Given the description of an element on the screen output the (x, y) to click on. 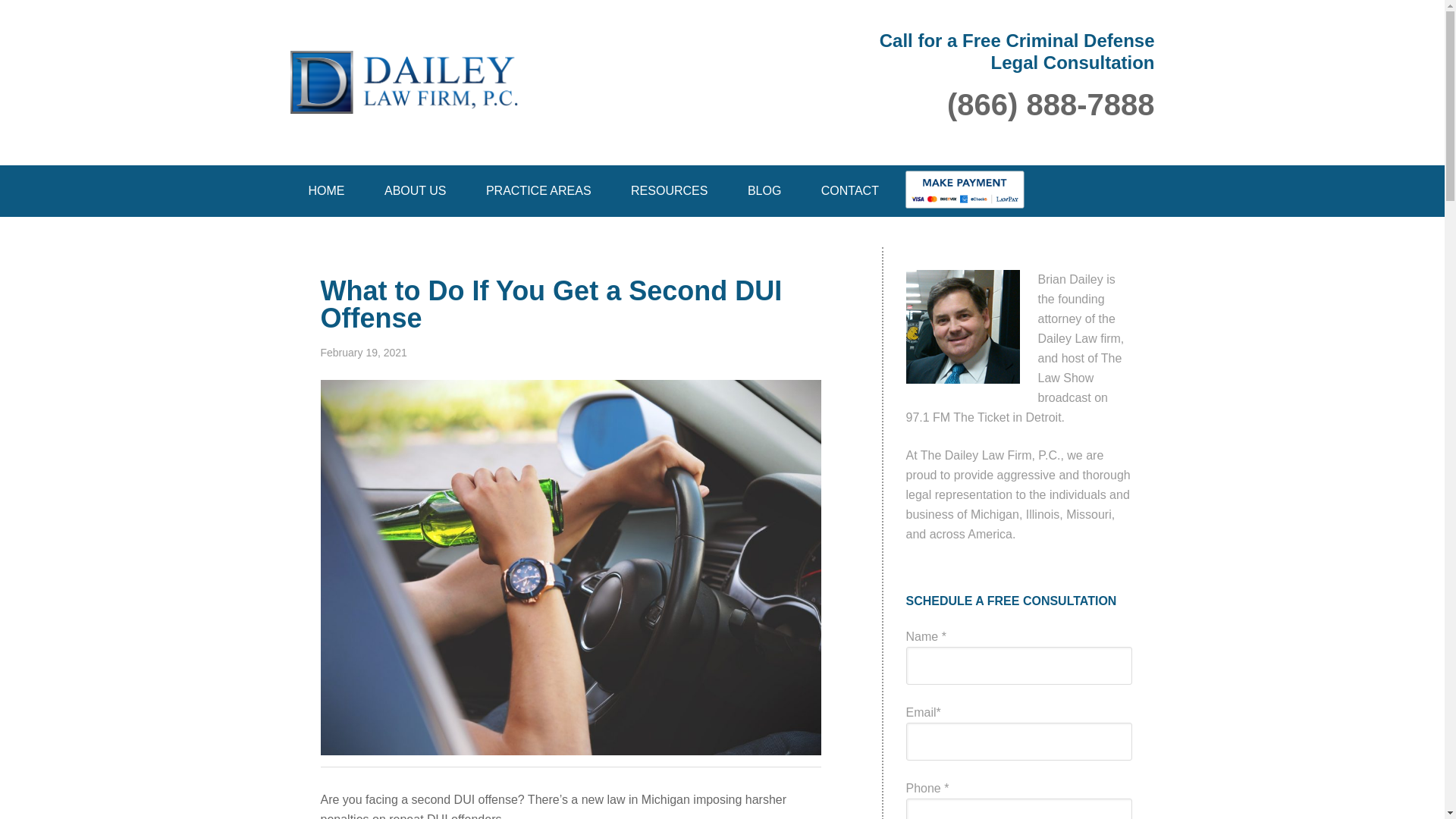
RESOURCES (668, 191)
CONTACT (849, 191)
HOME (325, 191)
ABOUT US (415, 191)
PRACTICE AREAS (538, 191)
MICHIGAN CRIMINAL DEFENSE LAWYER (555, 62)
BLOG (764, 191)
M (964, 191)
